Given the description of an element on the screen output the (x, y) to click on. 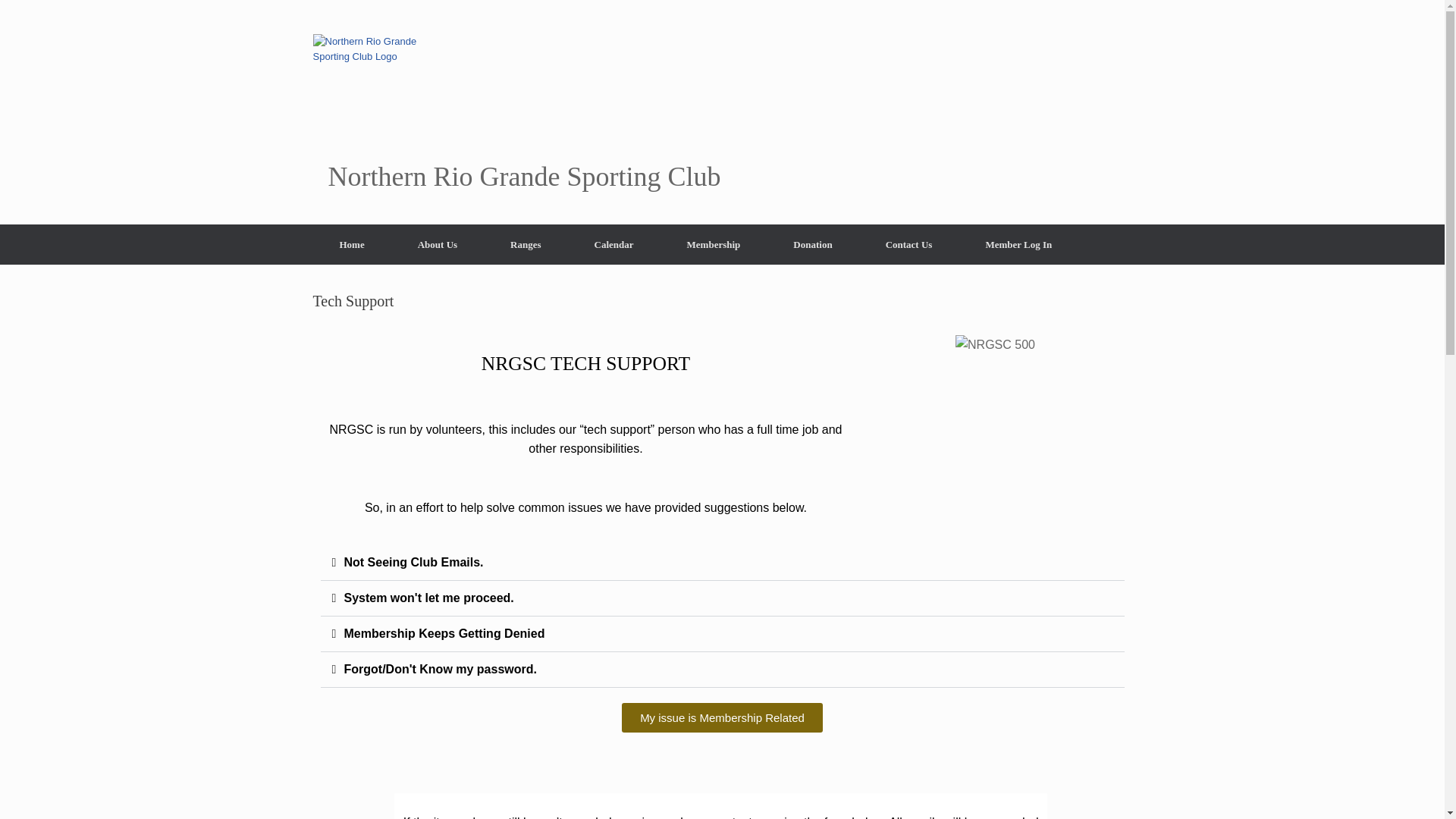
Northern Rio Grande Sporting Club (516, 112)
Ranges (525, 244)
Home (351, 244)
NRGSC 500 (995, 344)
About Us (437, 244)
Contact Us (909, 244)
Membership (714, 244)
Calendar (614, 244)
Northern Rio Grande Sporting Club (516, 112)
Membership Keeps Getting Denied (443, 633)
My issue is Membership Related (721, 717)
Member Log In (1018, 244)
Donation (813, 244)
Not Seeing Club Emails. (413, 562)
System won't let me proceed. (428, 597)
